Given the description of an element on the screen output the (x, y) to click on. 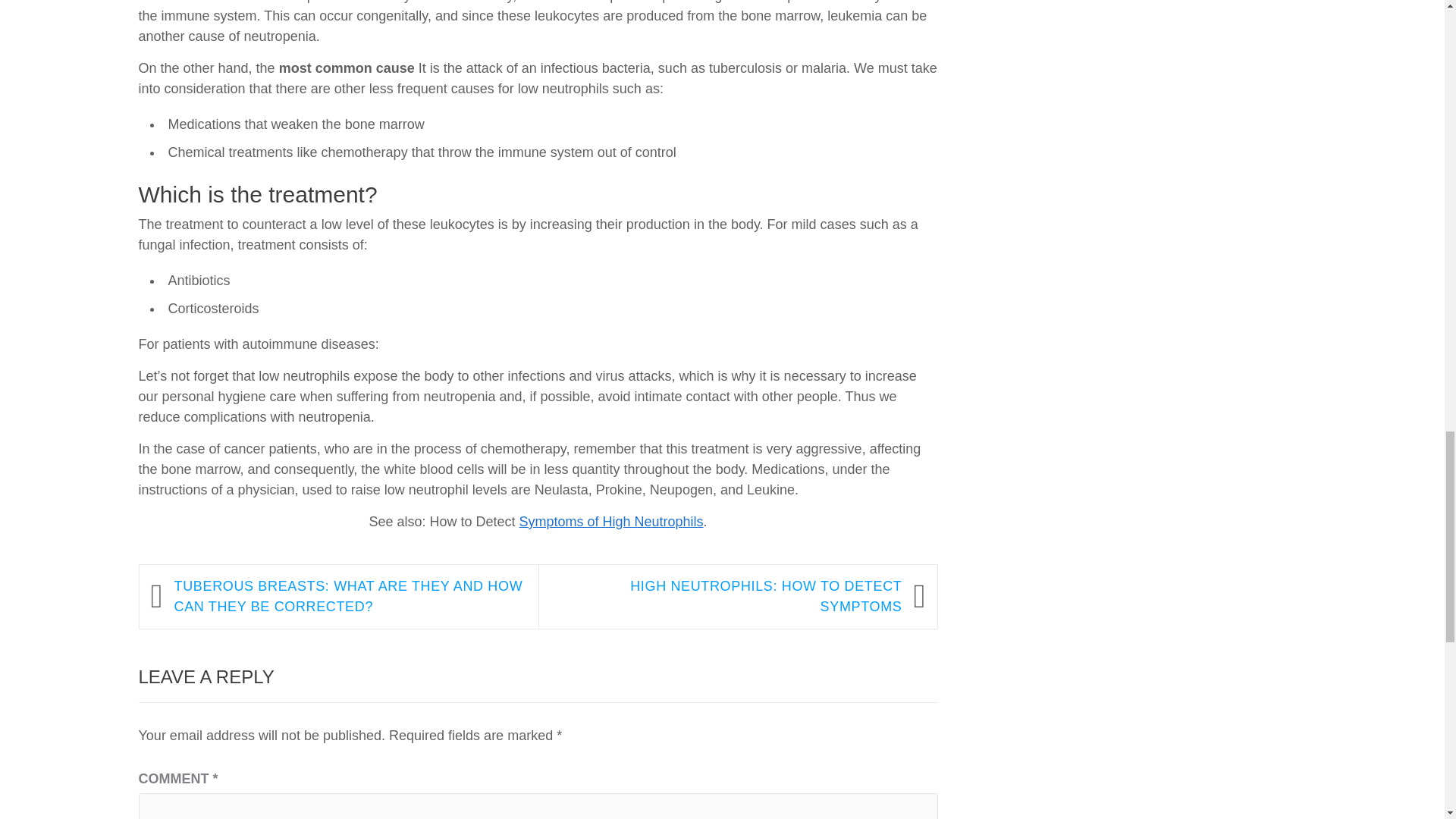
Post Comment (206, 814)
HIGH NEUTROPHILS: HOW TO DETECT SYMPTOMS (726, 214)
Symptoms of High Neutrophils (610, 139)
Post Comment (206, 814)
